Given the description of an element on the screen output the (x, y) to click on. 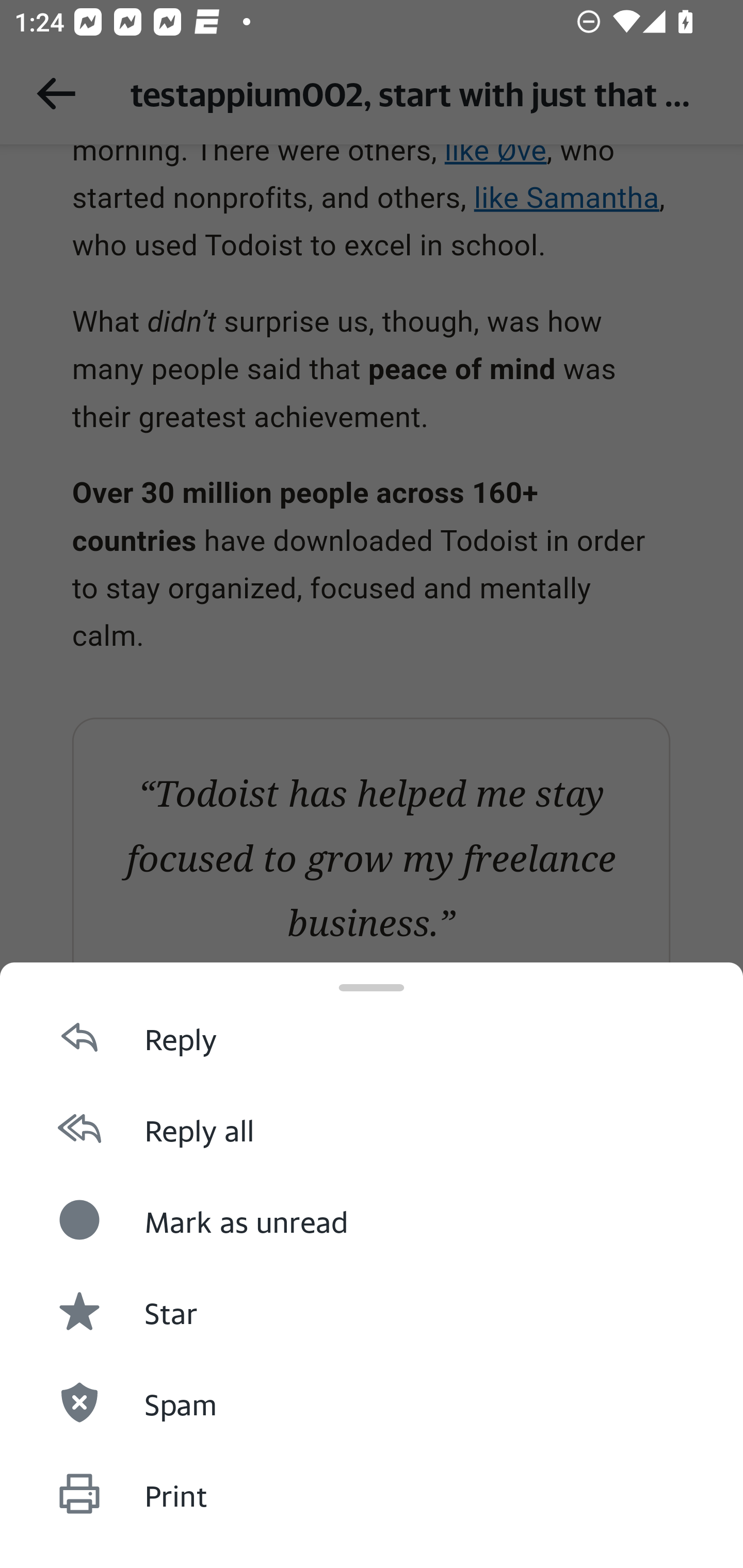
Reply (371, 1035)
Reply all (371, 1127)
Mark as unread (371, 1219)
Star (371, 1310)
Spam (371, 1401)
Print (371, 1493)
